Given the description of an element on the screen output the (x, y) to click on. 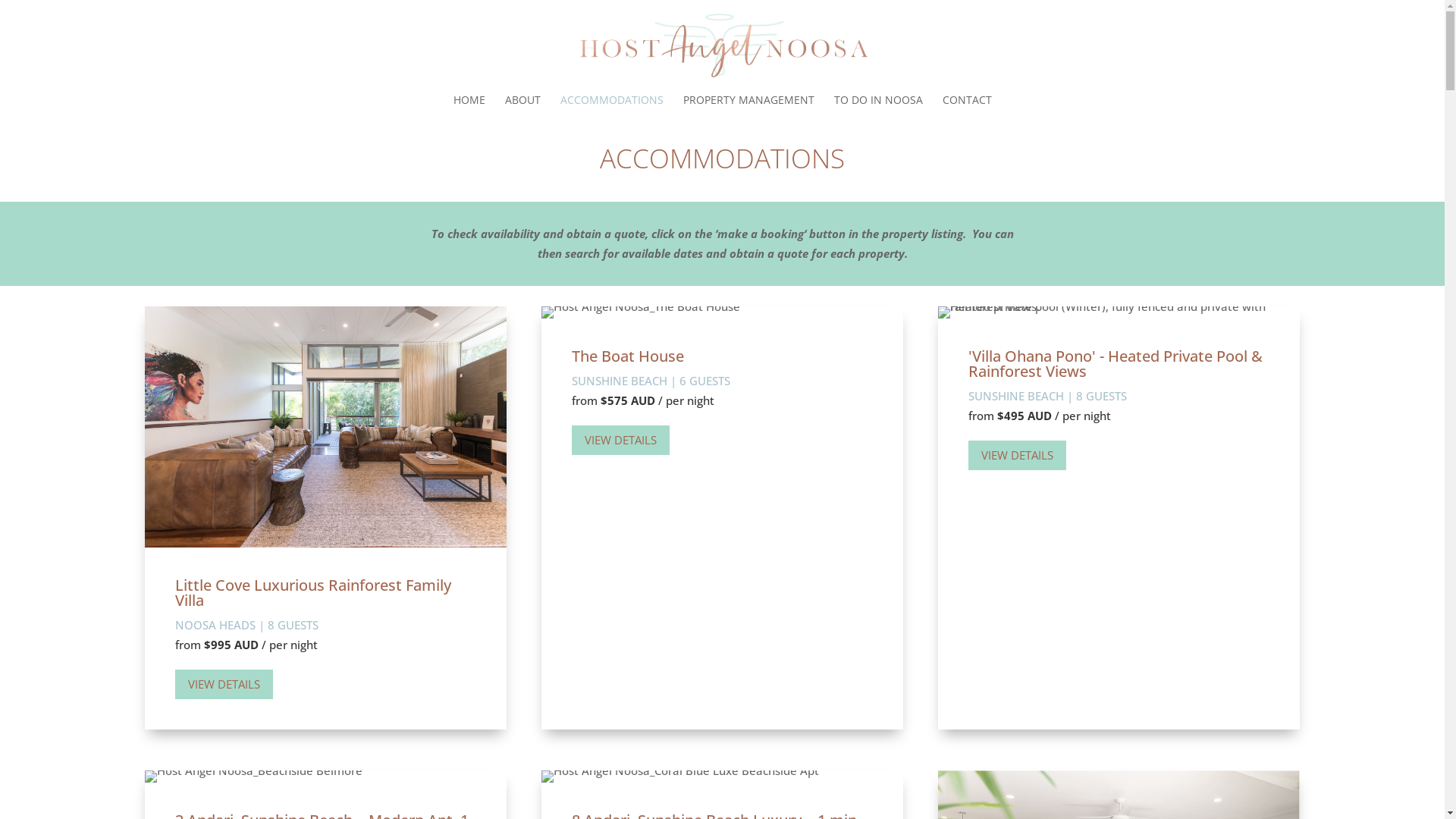
TO DO IN NOOSA Element type: text (878, 108)
HostAngelNoosa_8Andari_01 Element type: hover (680, 776)
Host Angel Noosa_The Boat House Element type: hover (640, 312)
HOME Element type: text (469, 108)
ABOUT Element type: text (522, 108)
VIEW DETAILS Element type: text (1017, 455)
VIEW DETAILS Element type: text (223, 684)
Host Angel Noosa_Beachside Belmore Element type: hover (252, 776)
CONTACT Element type: text (966, 108)
PROPERTY MANAGEMENT Element type: text (747, 108)
VIEW DETAILS Element type: text (620, 440)
ACCOMMODATIONS Element type: text (610, 108)
